Given the description of an element on the screen output the (x, y) to click on. 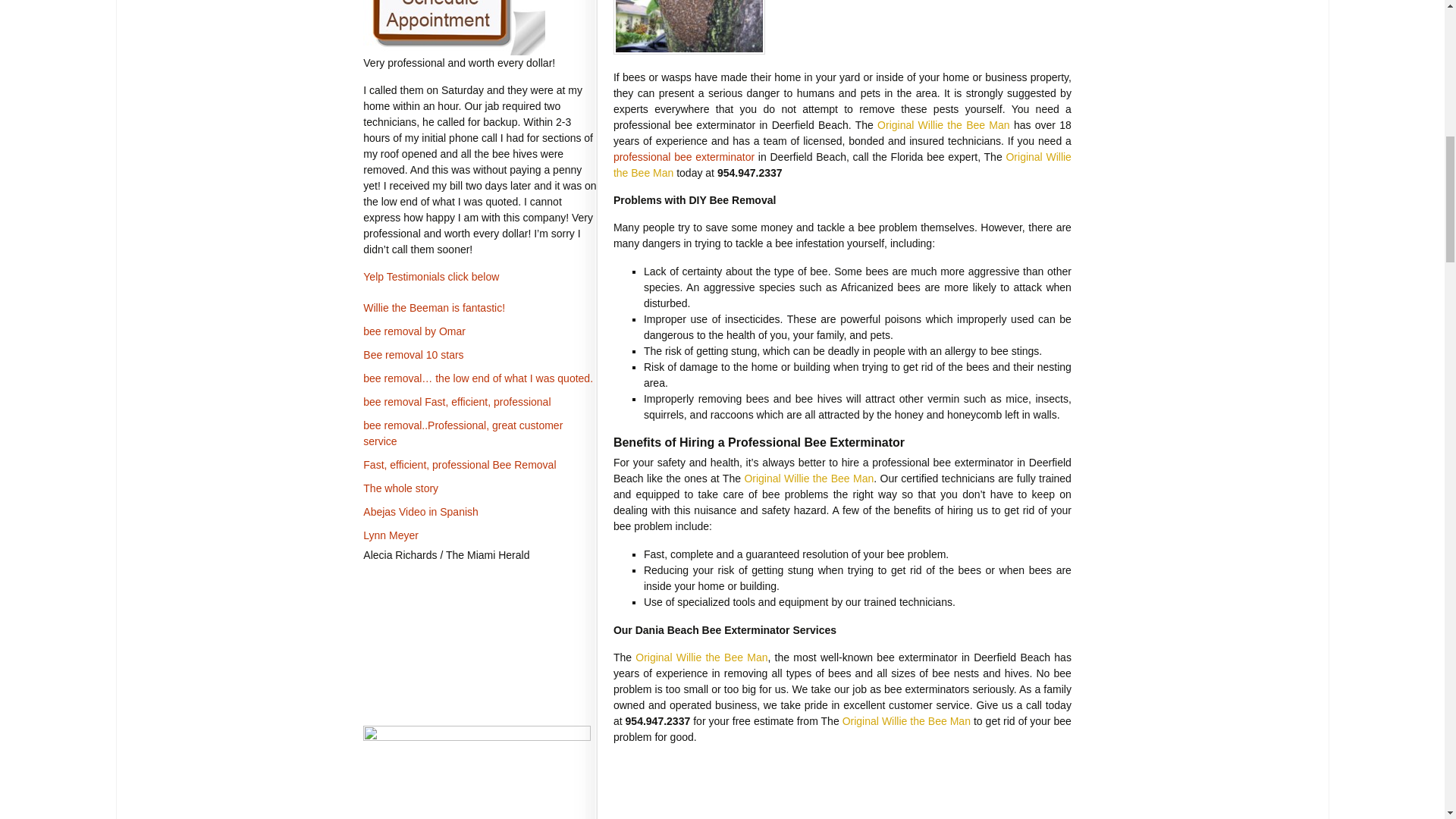
bee removal by Omar (413, 331)
bee removal Fast, efficient, professional (456, 401)
professional bee exterminator (683, 156)
The whole story (400, 488)
Fast, efficient, professional Bee Removal (459, 464)
bee removal..Professional, great customer service (462, 433)
Bee removal 10 stars (412, 354)
Willie the Beeman is fantastic! (433, 307)
Yelp Testimonials click below (430, 276)
